Given the description of an element on the screen output the (x, y) to click on. 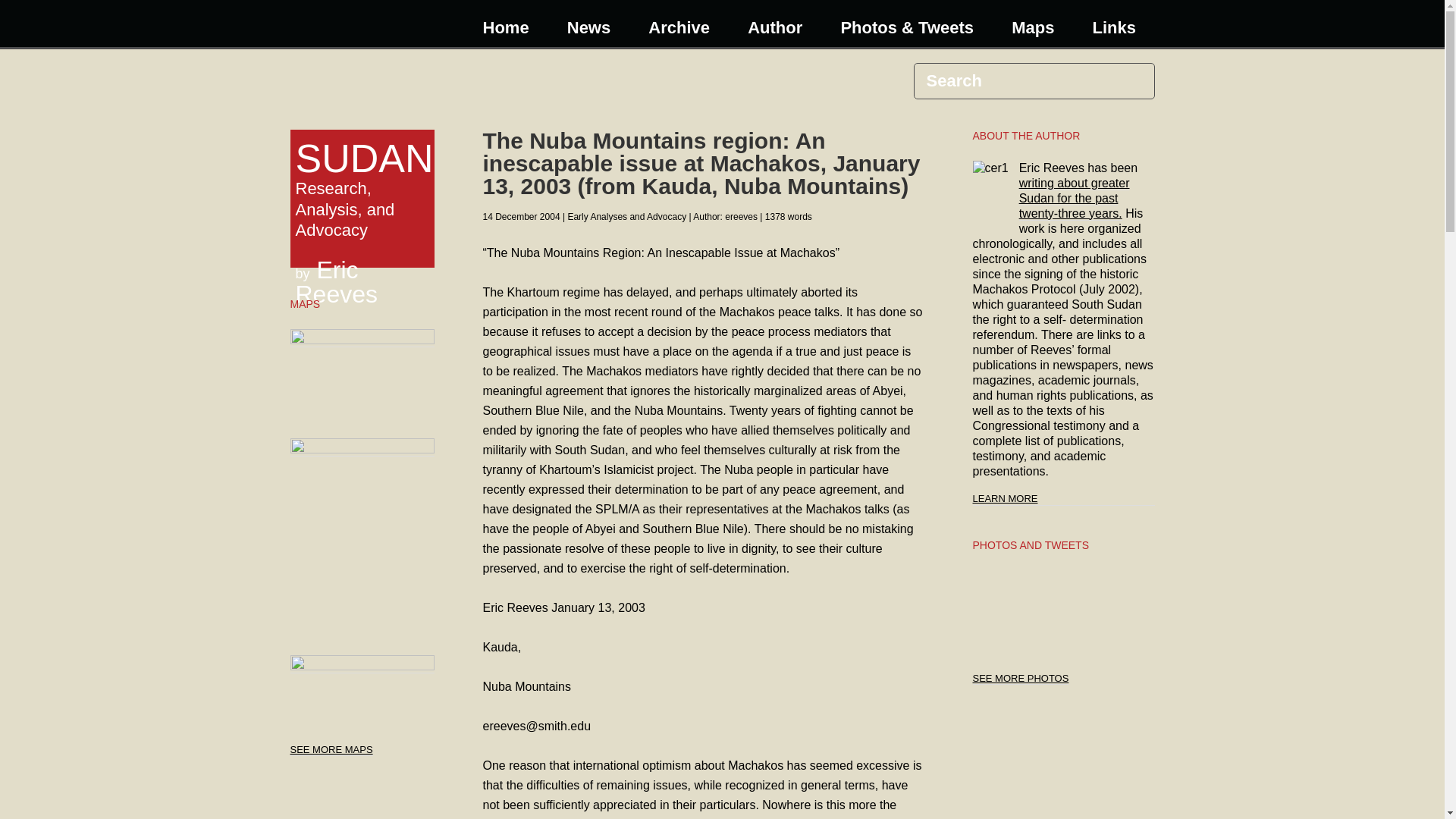
News (587, 27)
Early Analyses and Advocacy (626, 216)
Home (503, 27)
Archive (677, 27)
writing about greater Sudan for the past twenty-three years. (1074, 198)
Maps (330, 749)
LEARN MORE (1063, 492)
Photos and Tweets (1020, 678)
SEE MORE MAPS (330, 749)
Search (362, 188)
Links (1020, 678)
